Given the description of an element on the screen output the (x, y) to click on. 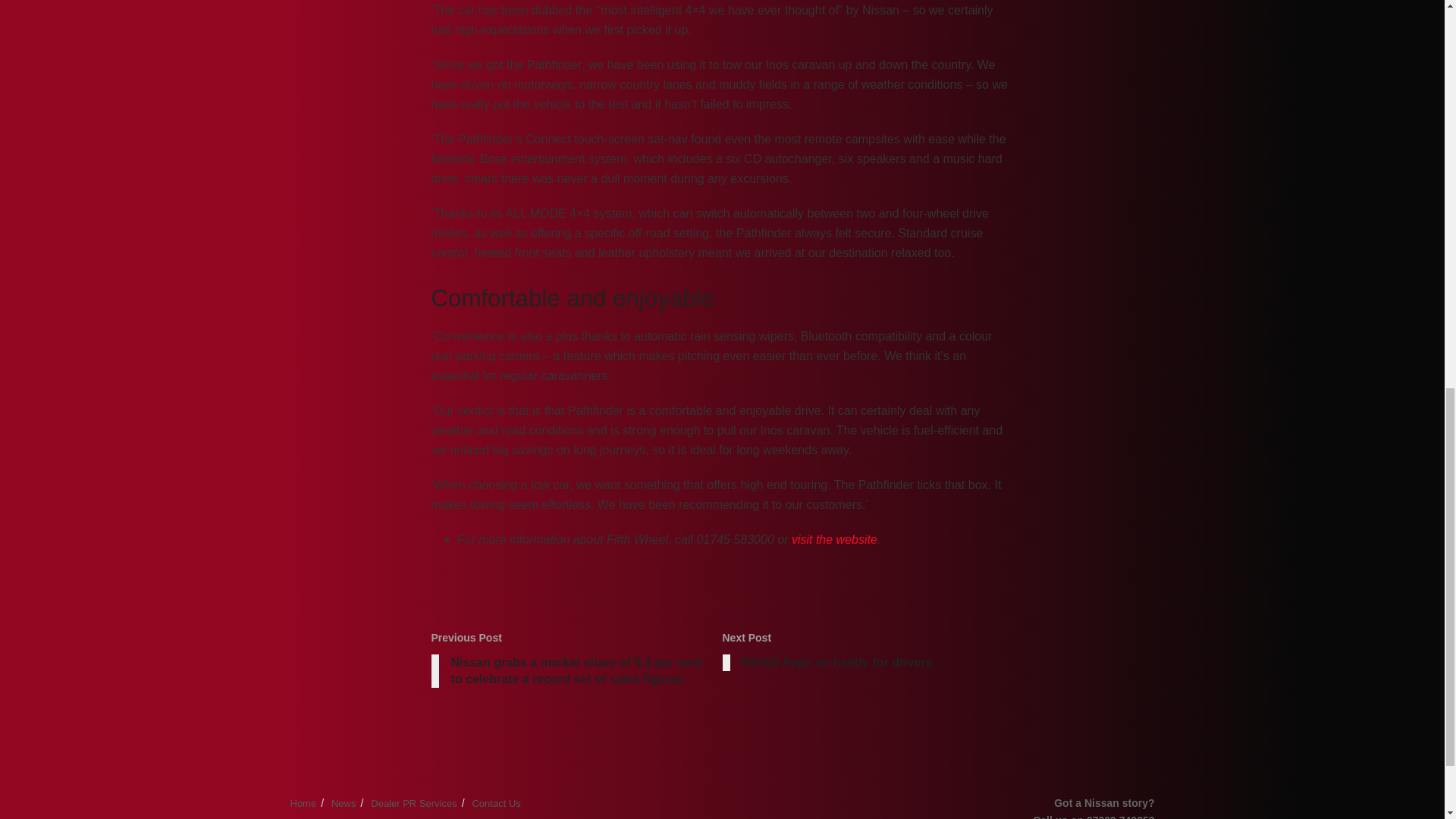
News (343, 803)
Contact Us (495, 803)
Home (867, 653)
visit the website (302, 803)
Dealer PR Services (834, 539)
